Given the description of an element on the screen output the (x, y) to click on. 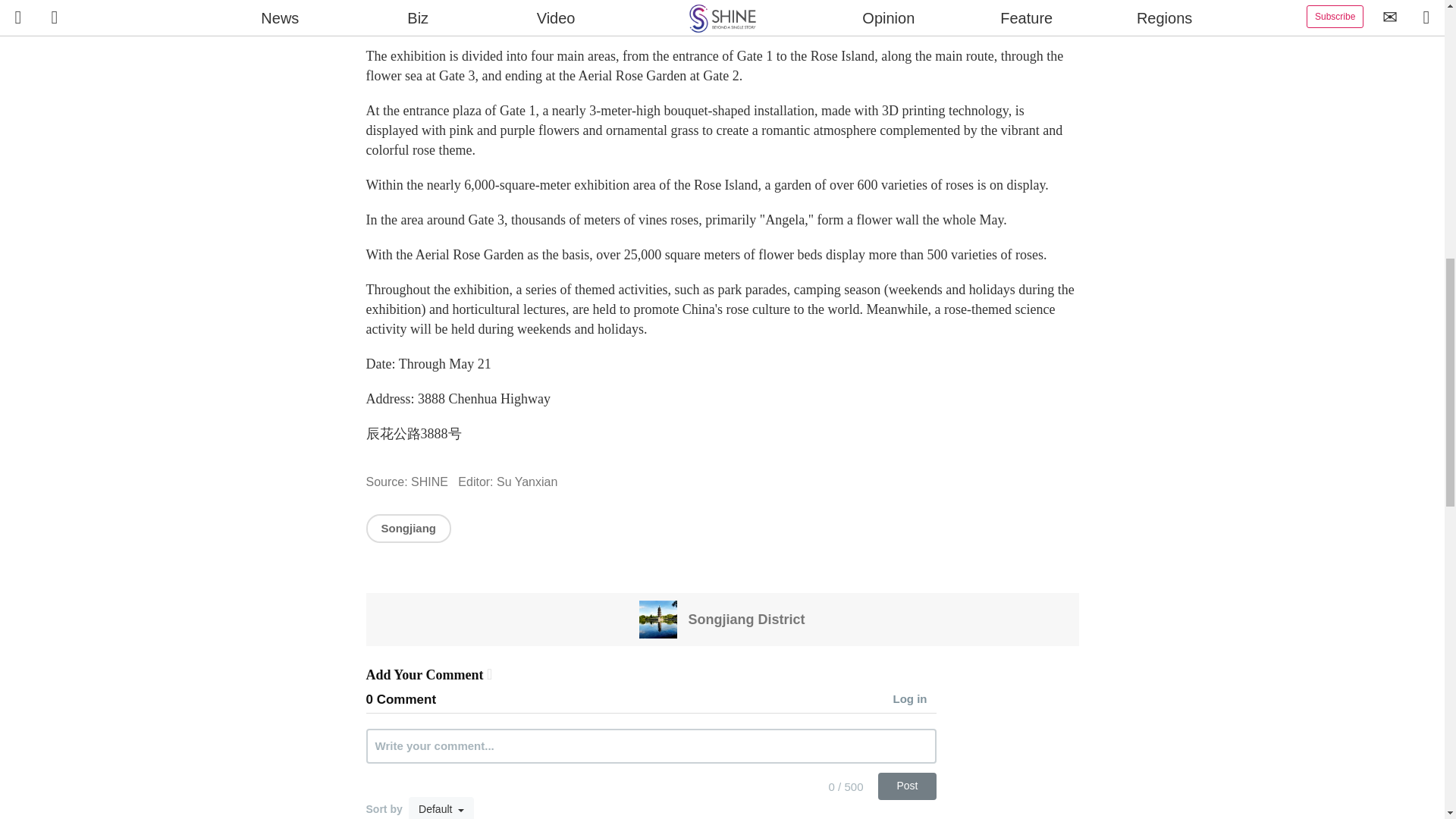
Log in (914, 699)
Songjiang (408, 528)
Default   (441, 807)
Songjiang District (722, 618)
